Given the description of an element on the screen output the (x, y) to click on. 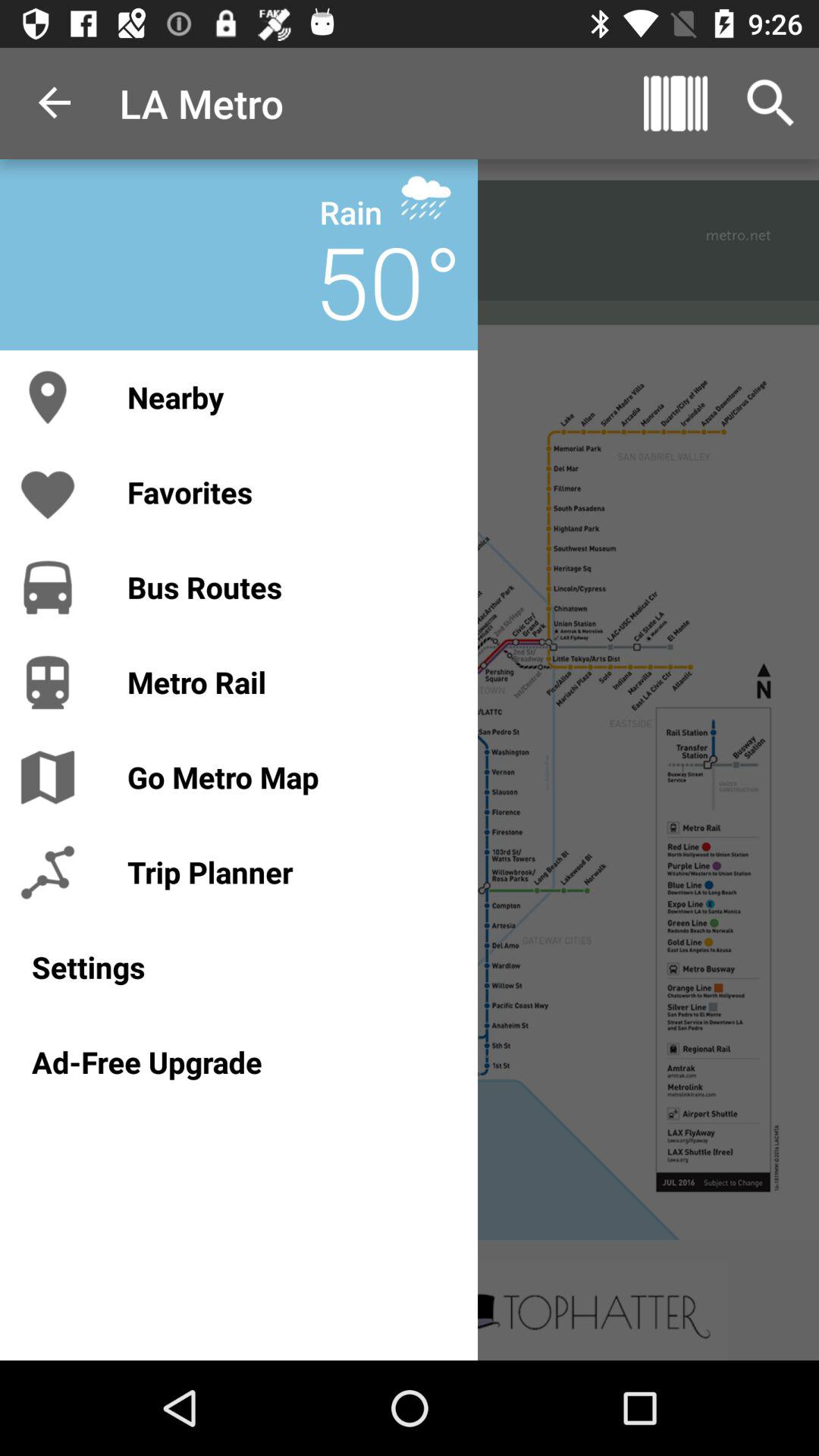
open the item at the bottom left corner (238, 1061)
